Given the description of an element on the screen output the (x, y) to click on. 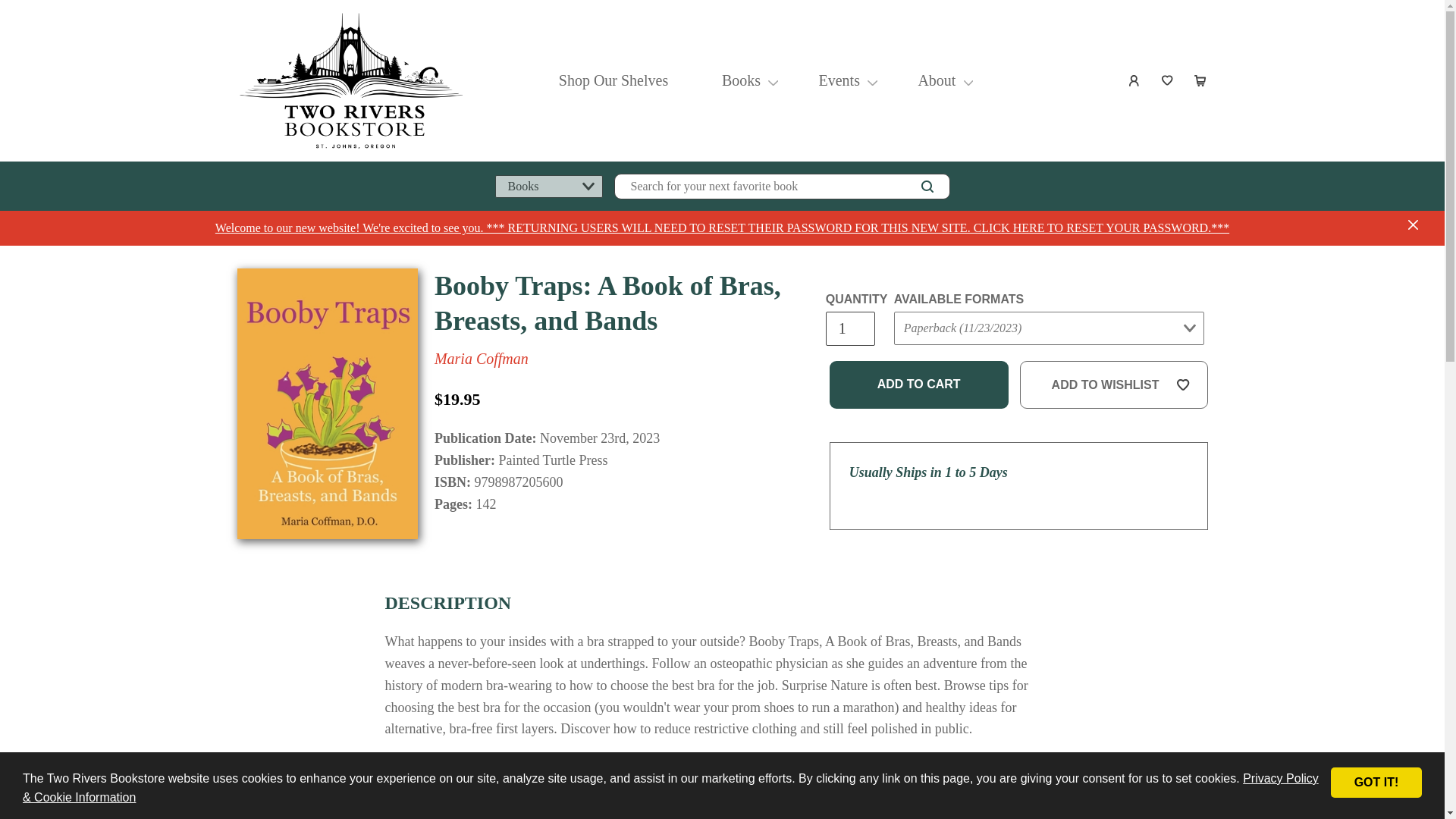
Cart (1201, 80)
Wishlist (1168, 80)
Log in (1134, 80)
ABOUT SUB-NAVIGATION (968, 79)
EVENTS SUB-NAVIGATION (872, 79)
BOOKS SUB-NAVIGATION (772, 79)
About (936, 79)
Events (838, 79)
Maria Coffman (480, 358)
Wishlists (1168, 80)
SEARCH (926, 186)
Log in (1134, 80)
Cart (1201, 80)
Books (741, 79)
